Given the description of an element on the screen output the (x, y) to click on. 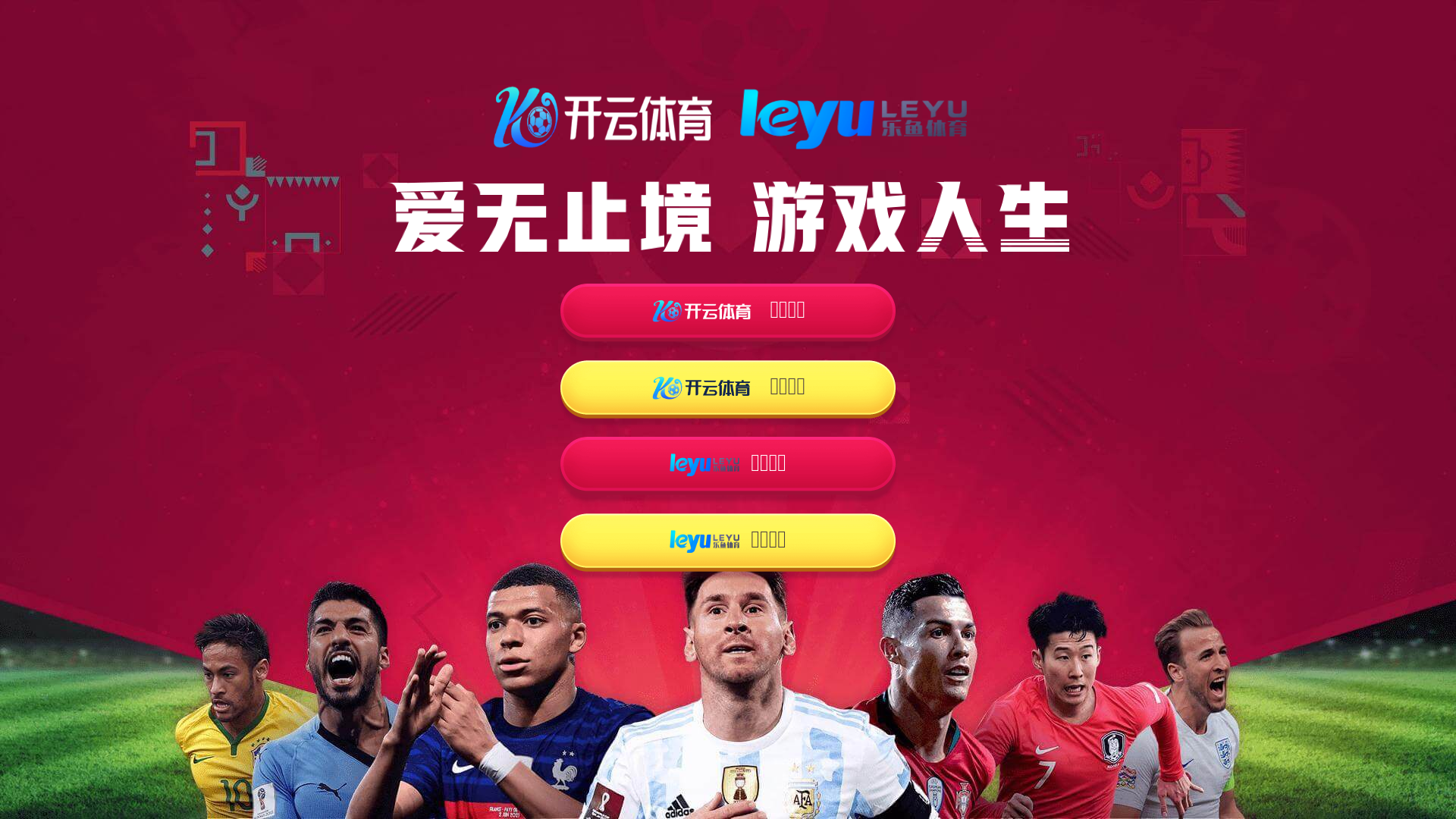
sitemap Element type: text (804, 788)
